Given the description of an element on the screen output the (x, y) to click on. 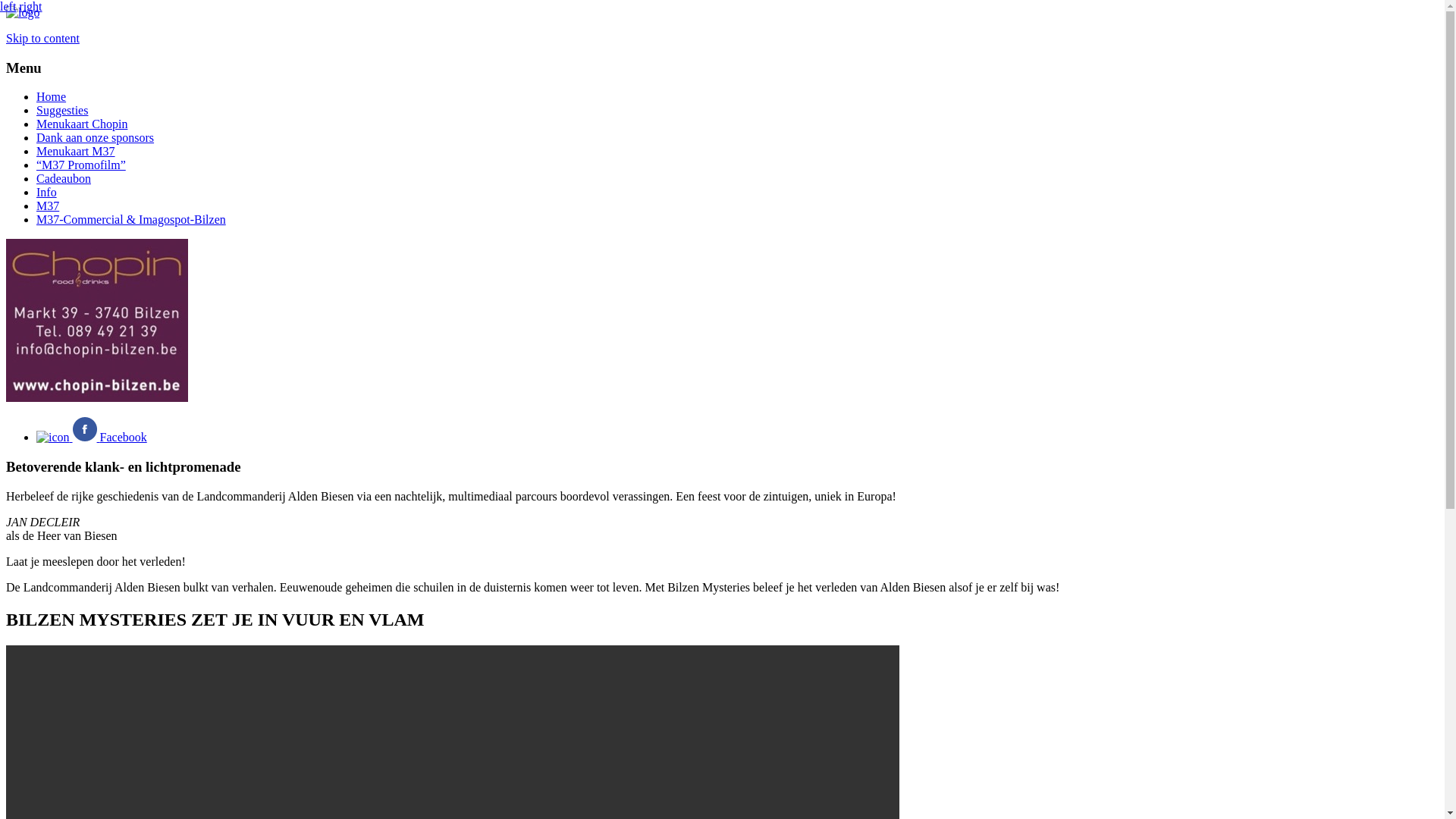
Suggesties Element type: text (61, 109)
Cadeaubon Element type: text (63, 178)
Chopin Bilzen Element type: hover (22, 12)
left Element type: text (7, 6)
M37-Commercial & Imagospot-Bilzen Element type: text (130, 219)
Chopin Bilzen Element type: hover (97, 397)
Info Element type: text (46, 191)
Facebook Element type: text (91, 436)
Home Element type: text (50, 96)
Menukaart M37 Element type: text (75, 150)
Menukaart Chopin Element type: text (81, 123)
Dank aan onze sponsors Element type: text (94, 137)
right Element type: text (29, 6)
Skip to content Element type: text (42, 37)
M37 Element type: text (47, 205)
